Given the description of an element on the screen output the (x, y) to click on. 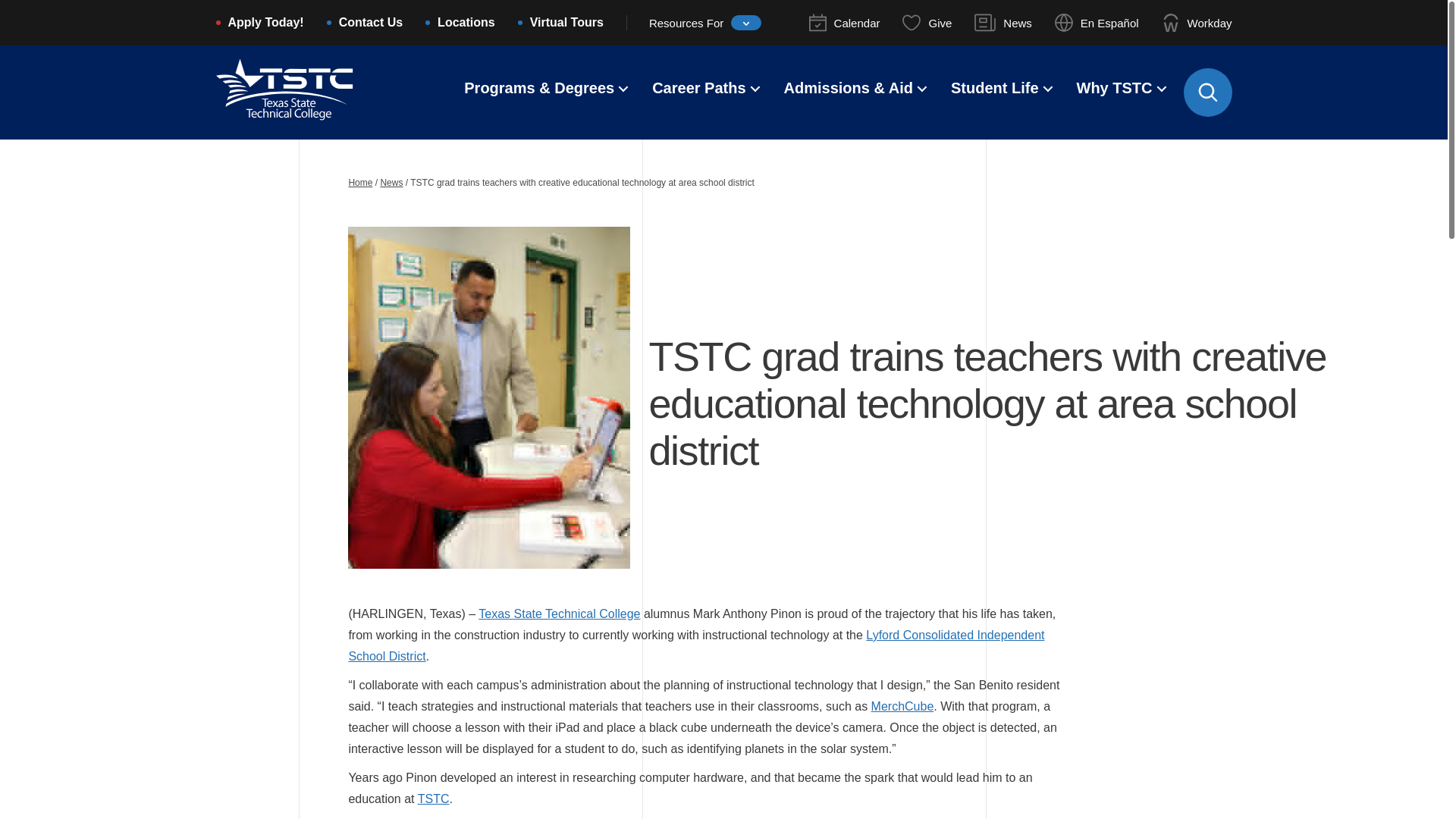
Student Life (994, 89)
Virtual Tours (566, 23)
Contact Us (371, 23)
Give (927, 22)
Calendar (844, 22)
Link logo header (283, 115)
Apply Today! (264, 23)
News (1003, 22)
Workday (1196, 22)
Translate menu link (1096, 22)
Giving menu link (927, 22)
Locations (466, 23)
Career Paths (698, 89)
Go to the News archives. (391, 182)
TSTC Workday (1196, 22)
